Given the description of an element on the screen output the (x, y) to click on. 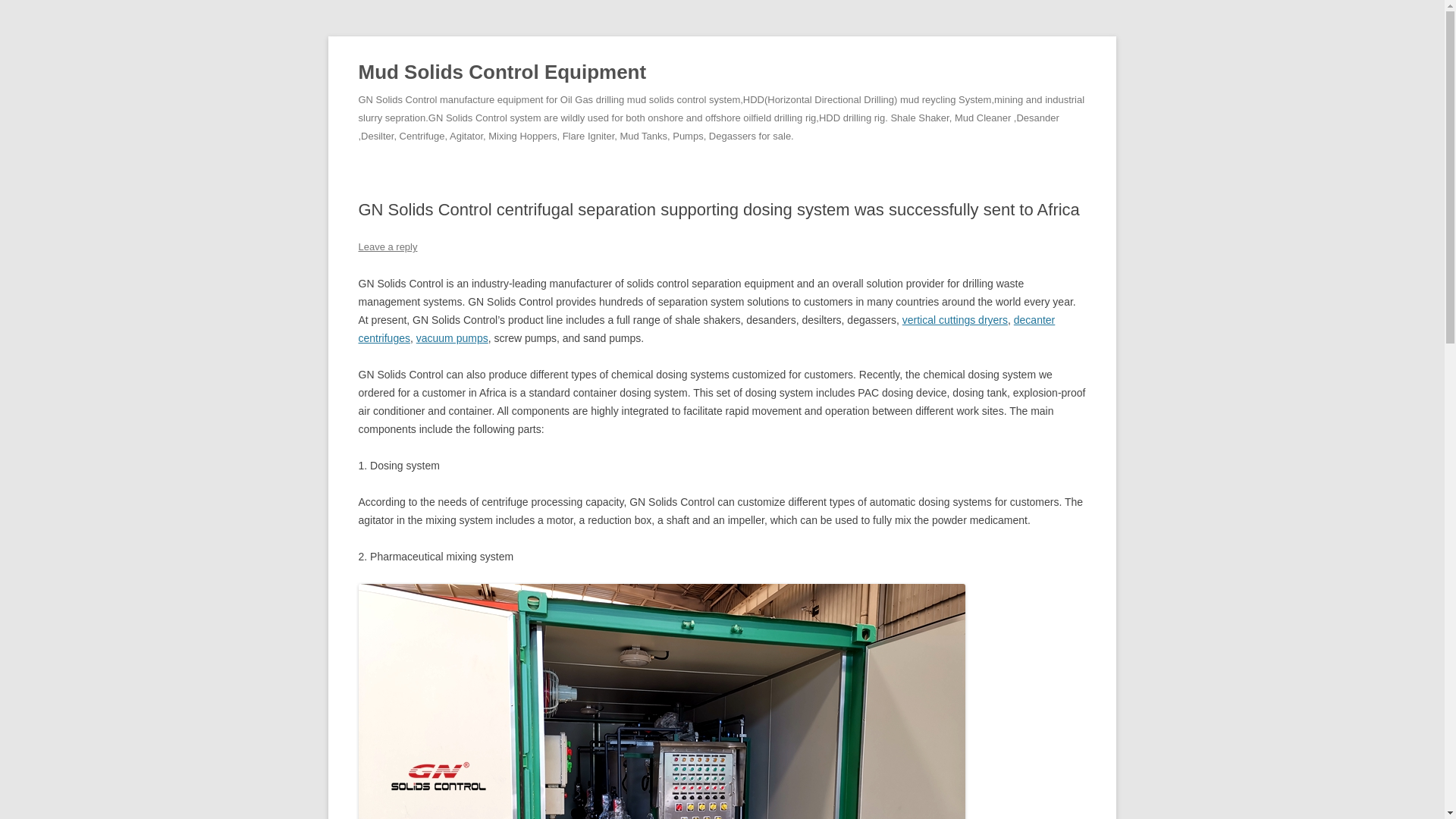
vacuum pumps (451, 337)
decanter centrifuges (706, 328)
vertical cuttings dryers (954, 319)
Mud Solids Control Equipment (502, 72)
Leave a reply (387, 246)
